Given the description of an element on the screen output the (x, y) to click on. 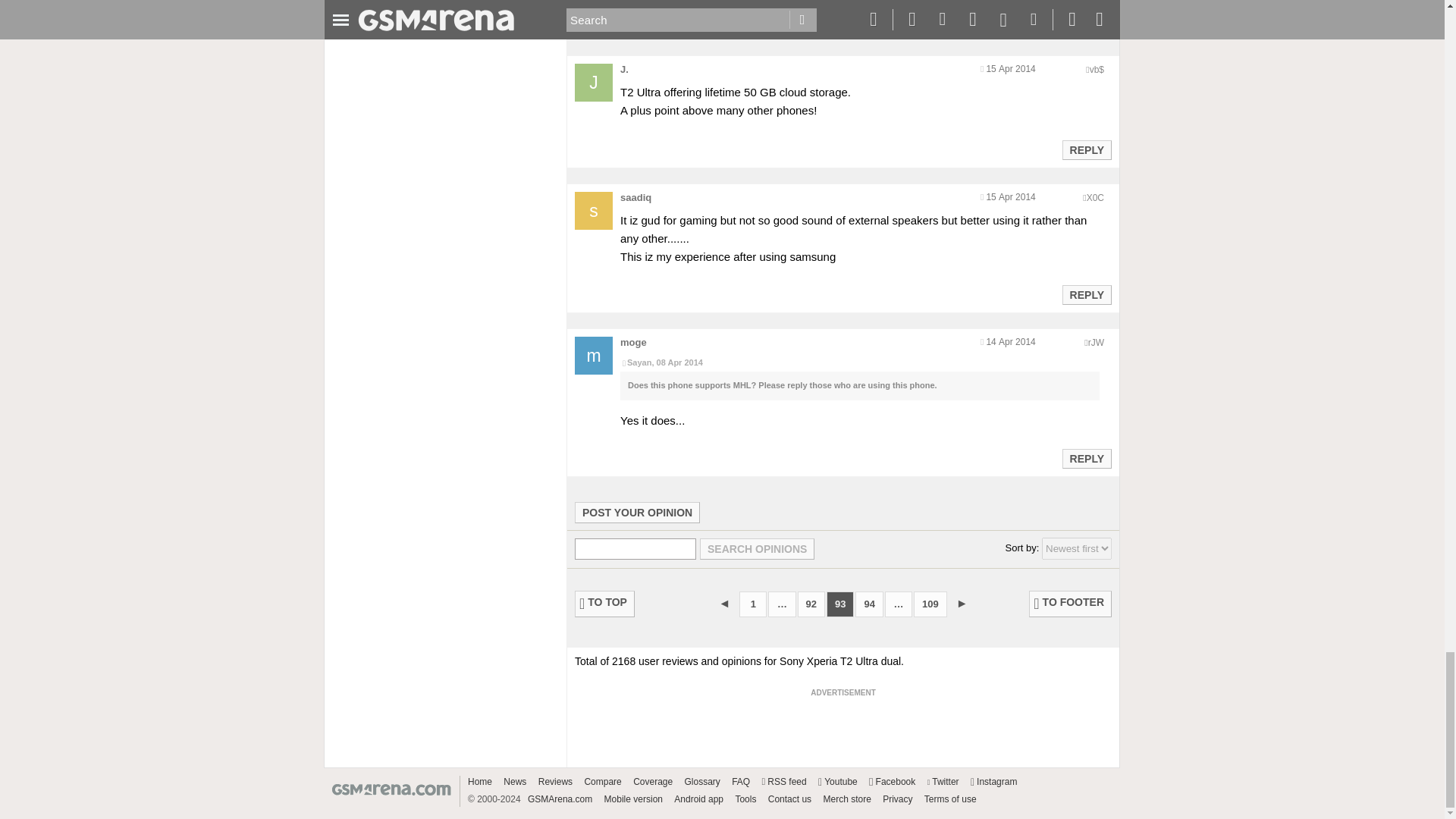
TO TOP (604, 603)
Search opinions (756, 548)
